Given the description of an element on the screen output the (x, y) to click on. 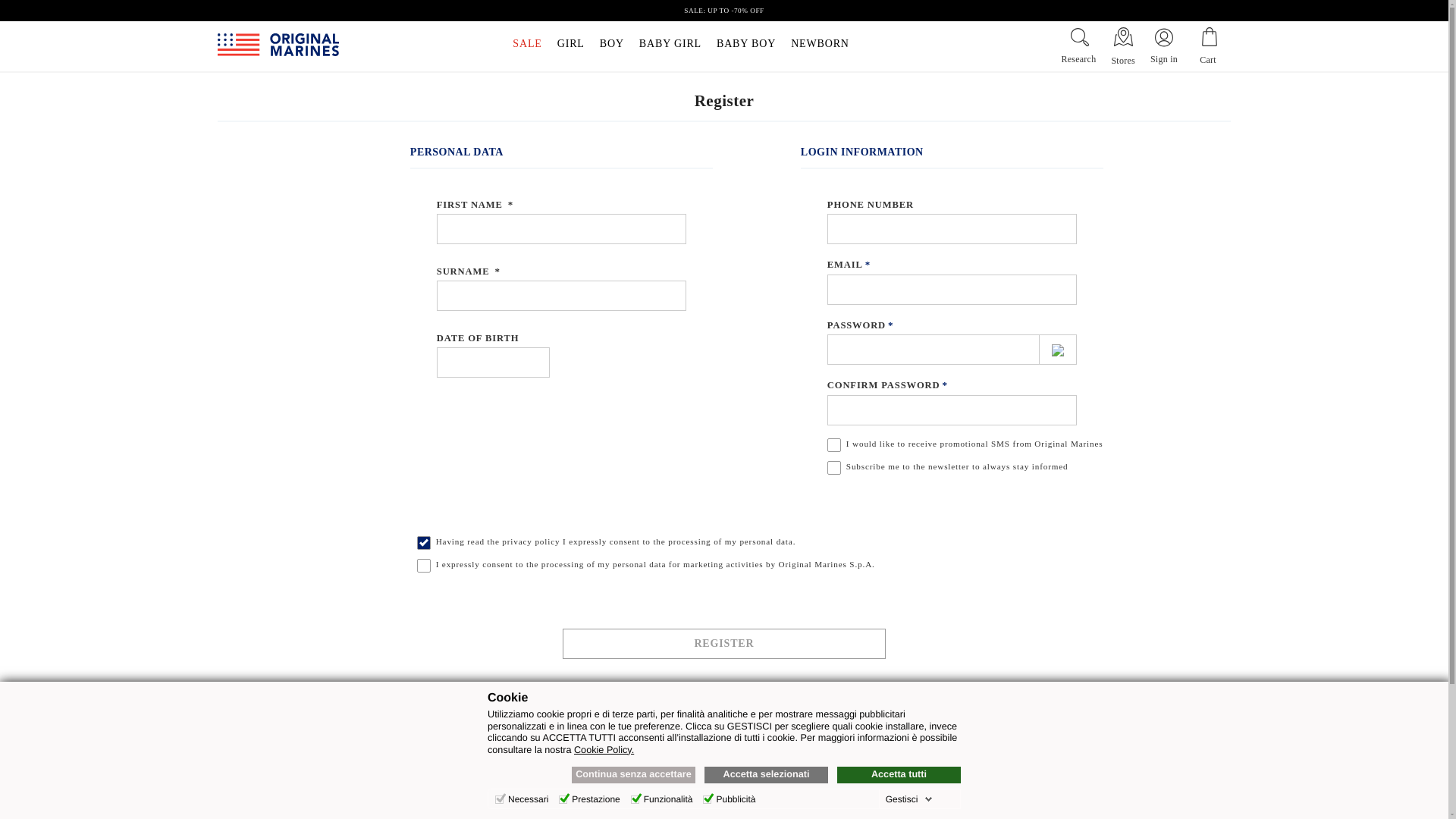
Continua senza accettare (633, 774)
Accetta selezionati (766, 774)
Accetta tutti (898, 774)
Cookie Policy. (603, 749)
Gestisci (909, 799)
